Given the description of an element on the screen output the (x, y) to click on. 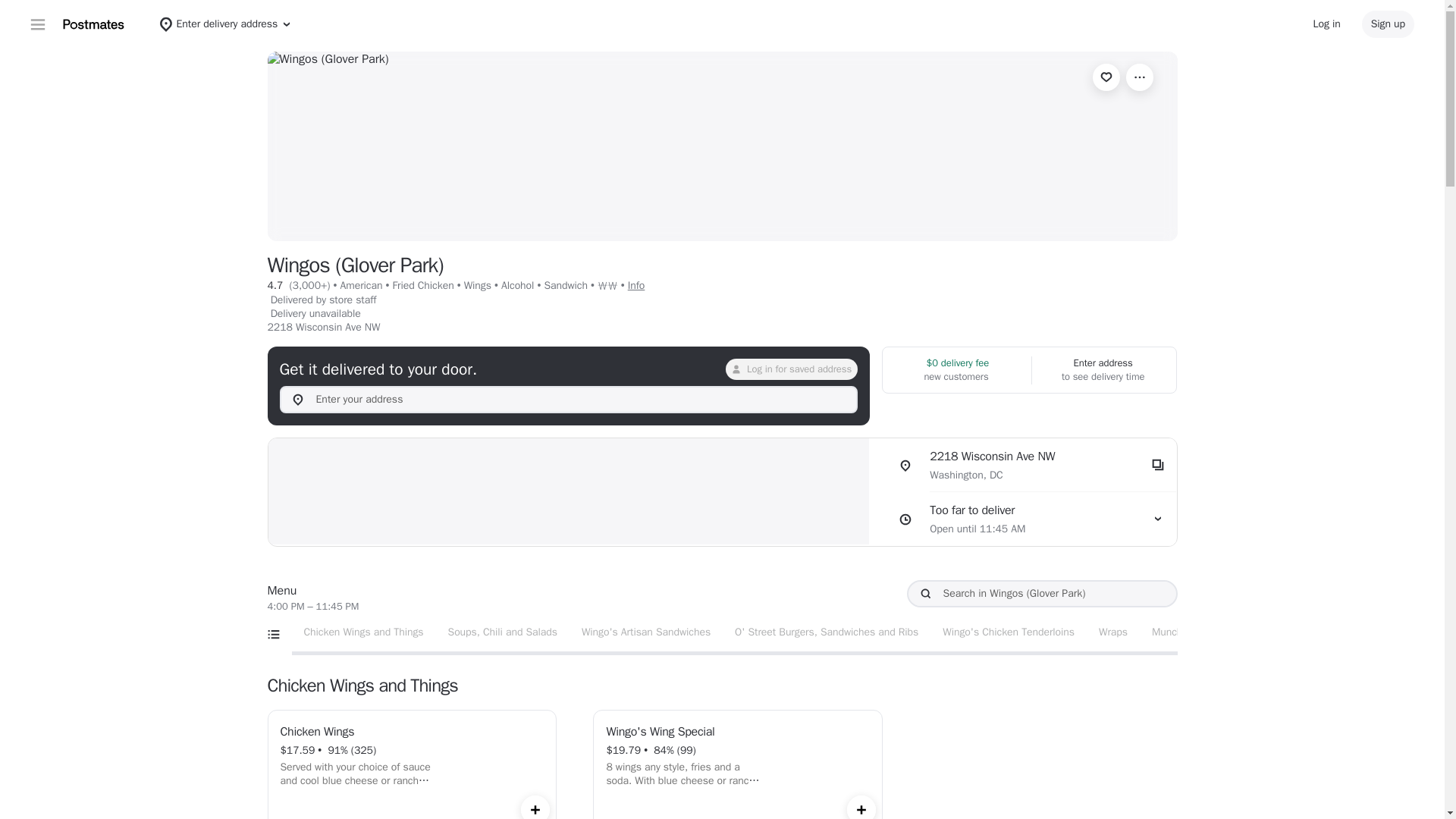
Wingo's Chicken Tenderloins (1008, 632)
Soups, Chili and Salads (502, 632)
Sign up (1387, 23)
Add to favorites (1105, 76)
Log in (1326, 23)
Wingo's Artisan Sandwiches (645, 632)
View more options (1139, 76)
Log in for saved address (791, 369)
Desserts (1290, 632)
Sides (1232, 632)
Wraps (1028, 519)
Munchies (1113, 632)
Chicken Wings and Things (1174, 632)
Info (363, 632)
